Given the description of an element on the screen output the (x, y) to click on. 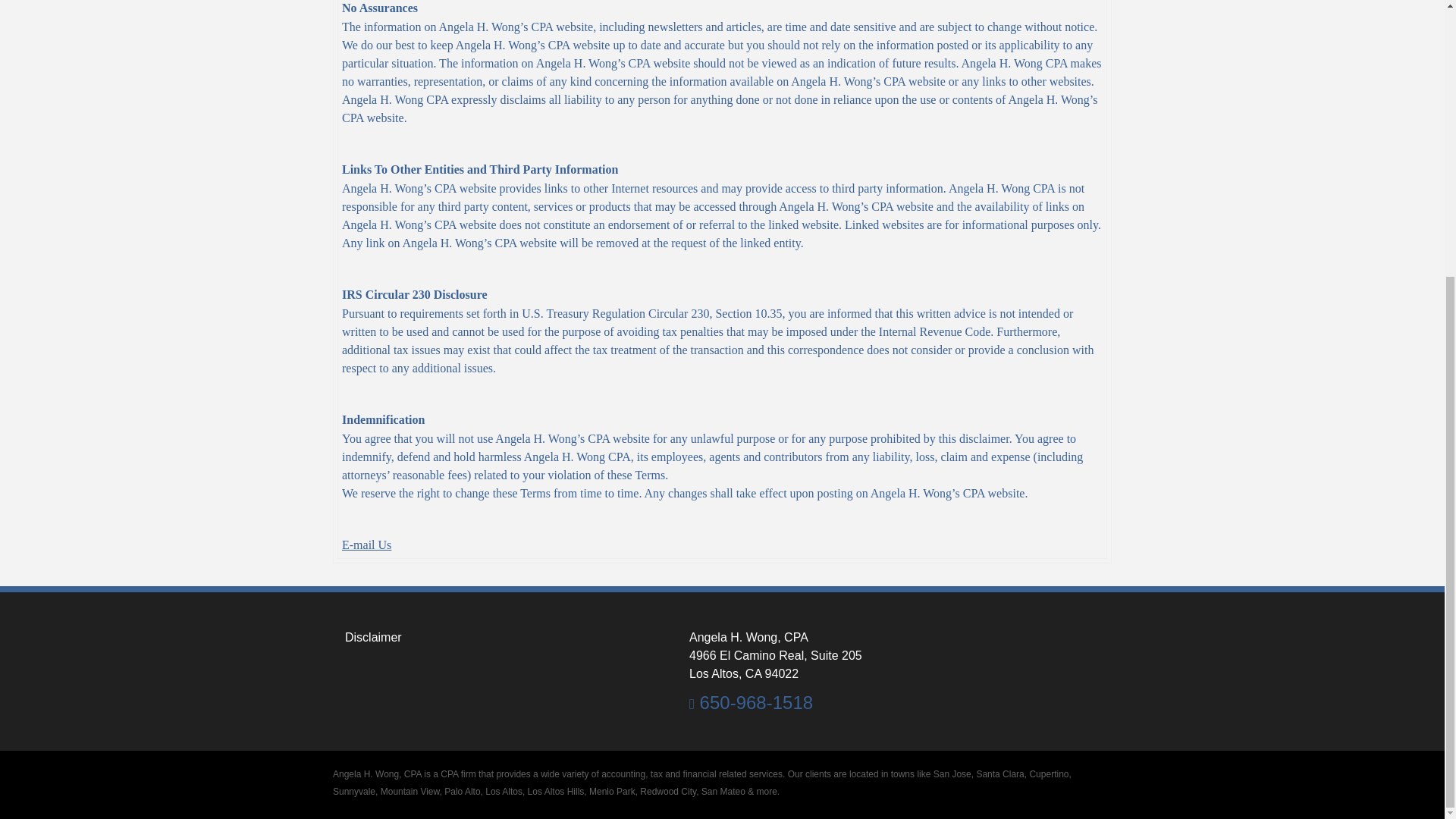
Disclaimer (369, 636)
650-968-1518 (750, 702)
E-mail Us (366, 544)
